Given the description of an element on the screen output the (x, y) to click on. 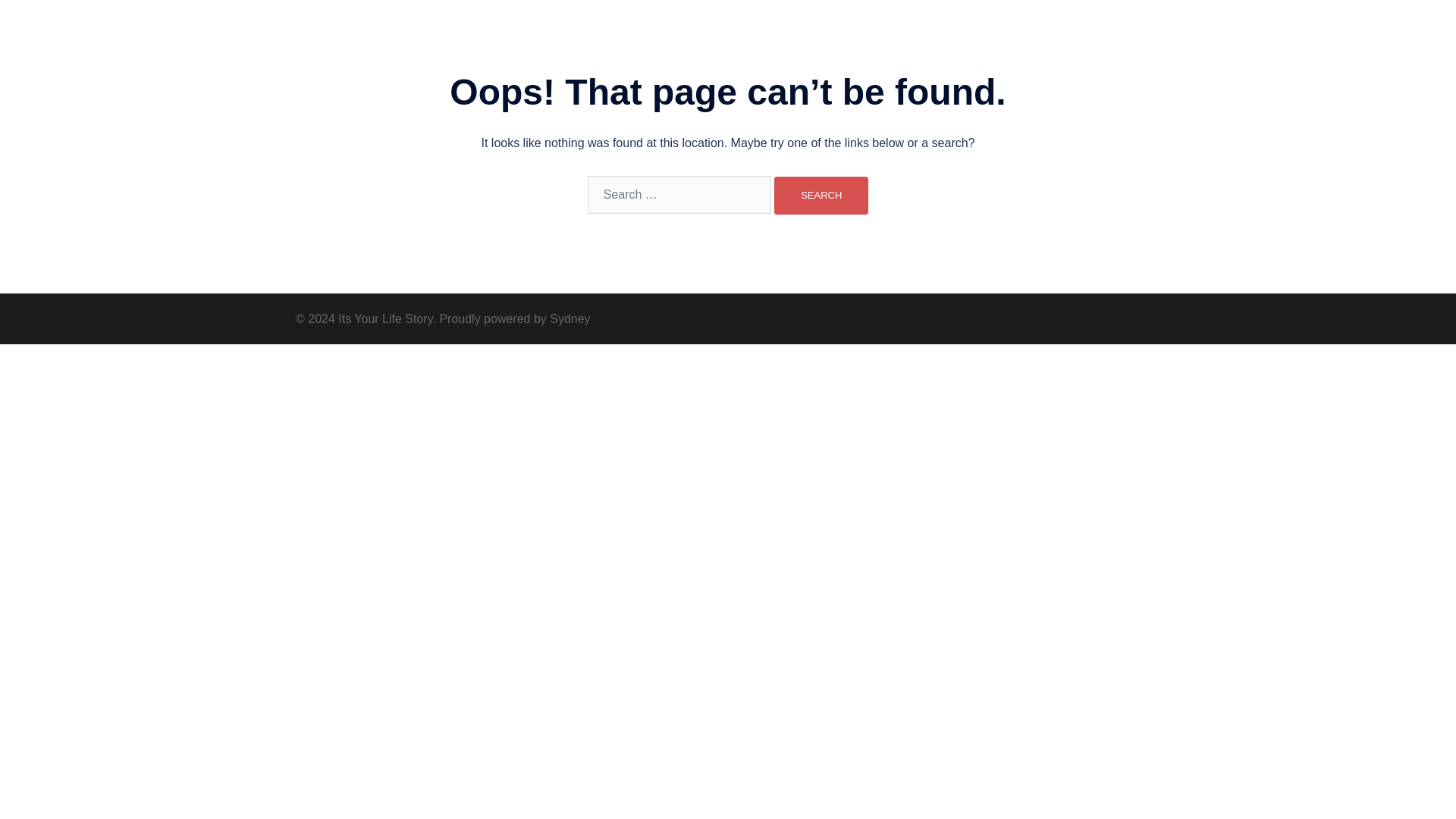
Search (820, 195)
Sydney (569, 318)
Its Your Life Story (398, 29)
Search (820, 195)
Search (820, 195)
